Given the description of an element on the screen output the (x, y) to click on. 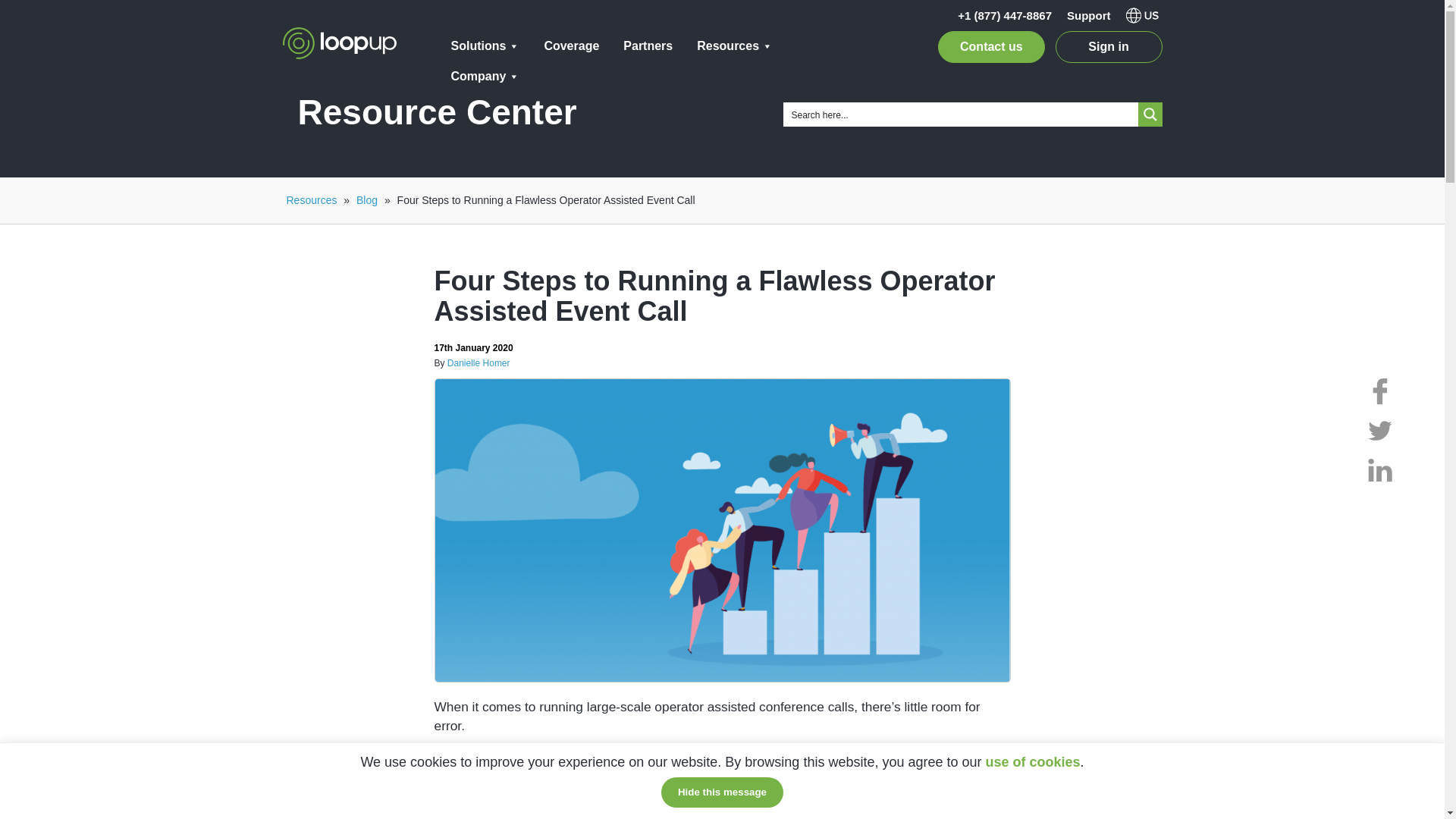
Solutions (484, 46)
Contact us (991, 47)
Share On Facebook (1377, 388)
Posts by Danielle Homer (478, 362)
Resources (734, 46)
Support (1088, 15)
Partners (647, 46)
Sign in (1108, 47)
Company (484, 76)
Share On Linkedin (1377, 467)
LoopUp.com (339, 42)
Share On Twitter (1377, 427)
Coverage (571, 46)
Language Selector (1142, 17)
